Given the description of an element on the screen output the (x, y) to click on. 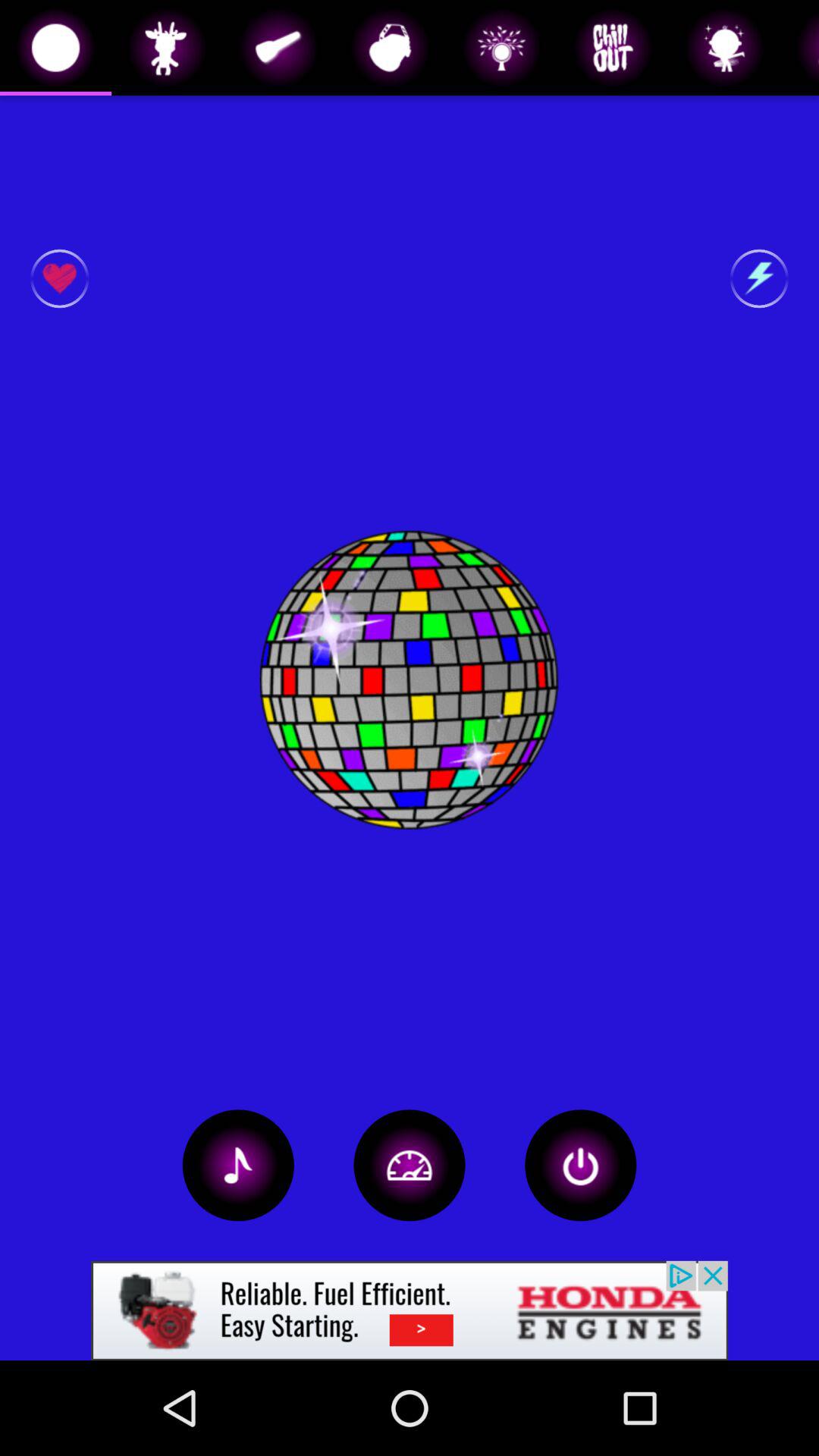
love button (59, 278)
